Given the description of an element on the screen output the (x, y) to click on. 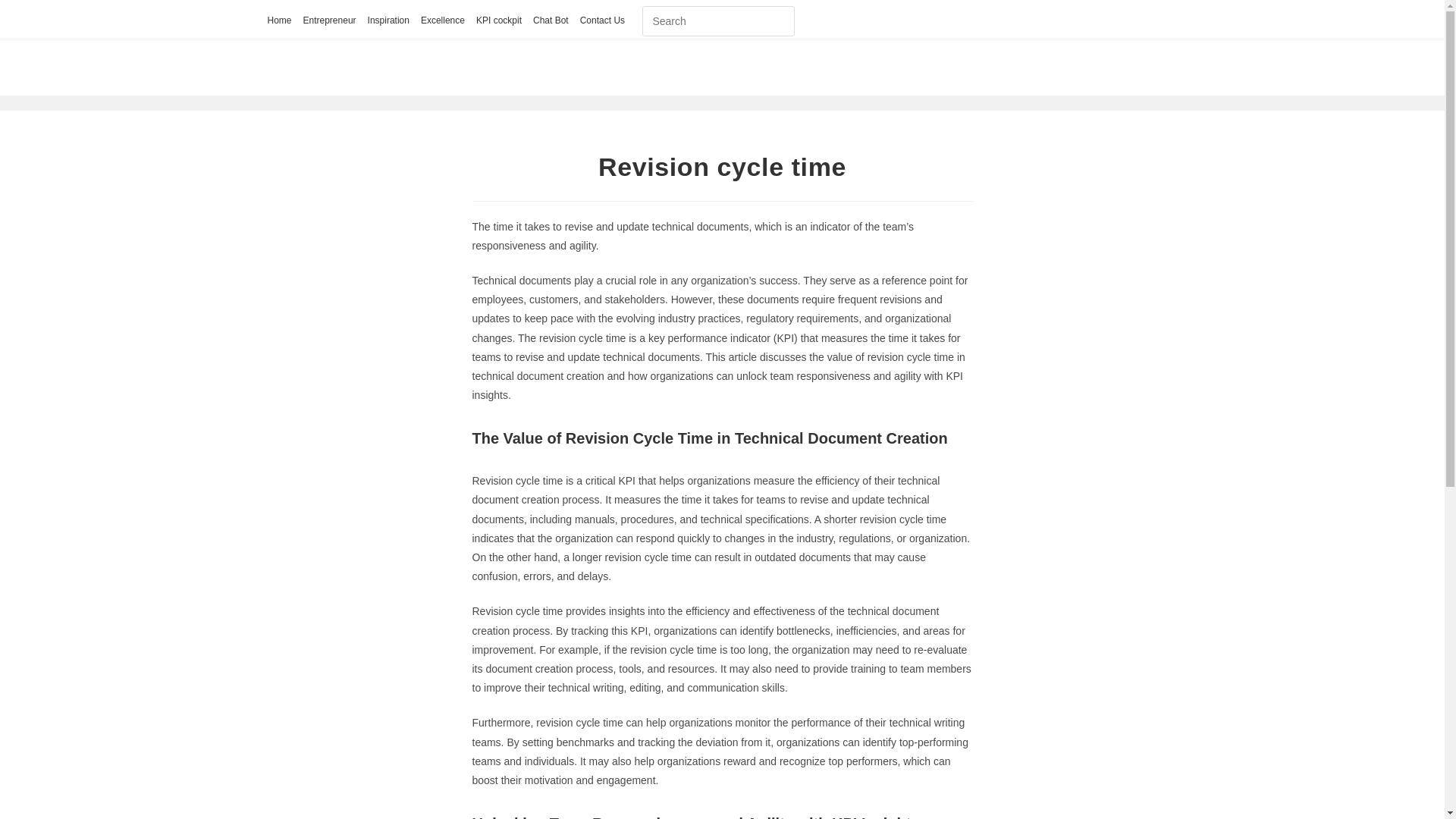
Excellence (442, 21)
KPI cockpit (498, 21)
Inspiration (388, 21)
Entrepreneur (329, 21)
Home (278, 21)
Contact Us (601, 21)
Chat Bot (550, 21)
